Given the description of an element on the screen output the (x, y) to click on. 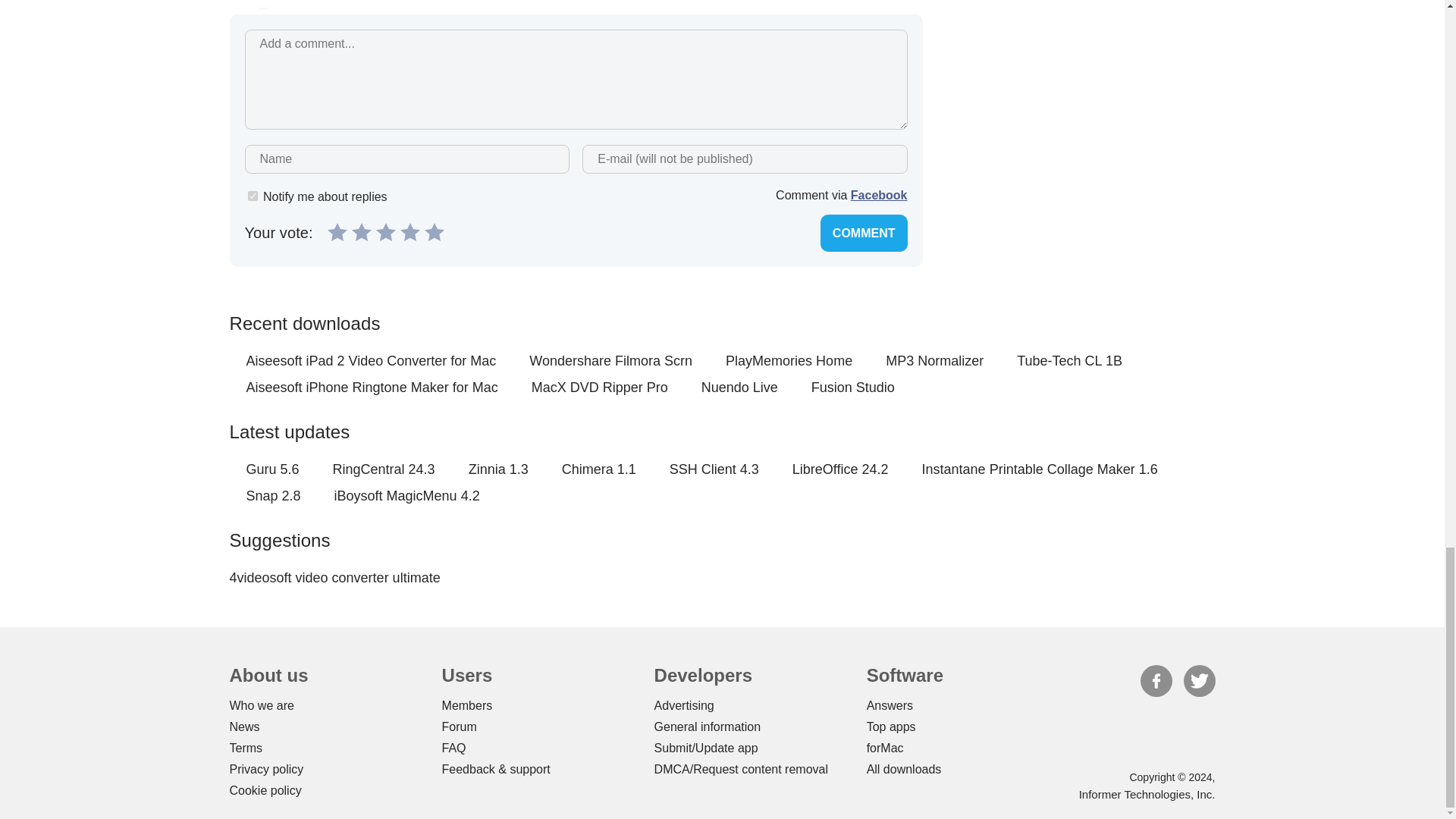
1 (252, 195)
Comment (864, 232)
3 (385, 230)
1 (336, 230)
5 (434, 230)
2 (361, 230)
4 (409, 230)
